Given the description of an element on the screen output the (x, y) to click on. 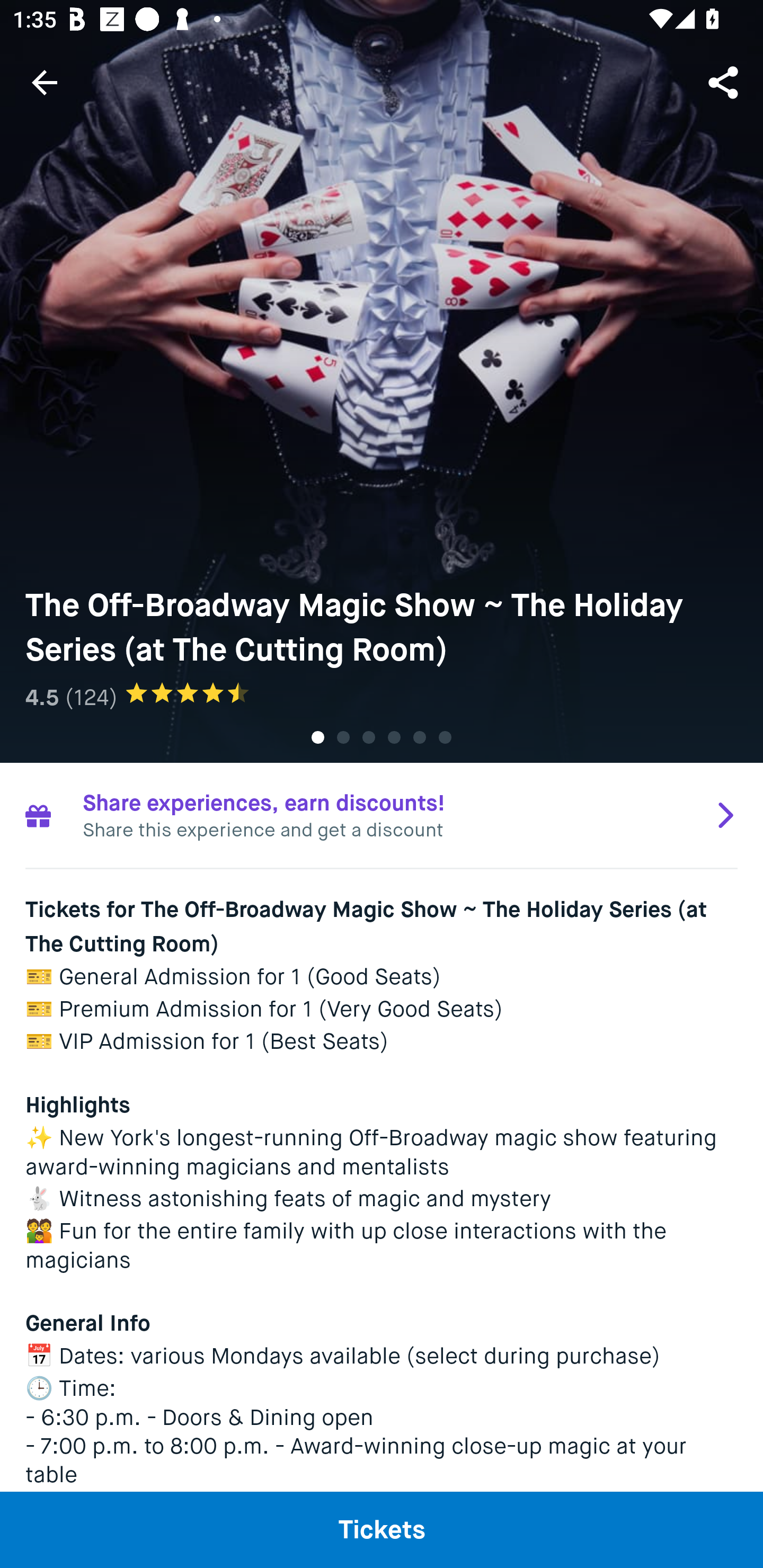
Navigate up (44, 82)
Share (724, 81)
(124) (90, 697)
Tickets (381, 1529)
